Given the description of an element on the screen output the (x, y) to click on. 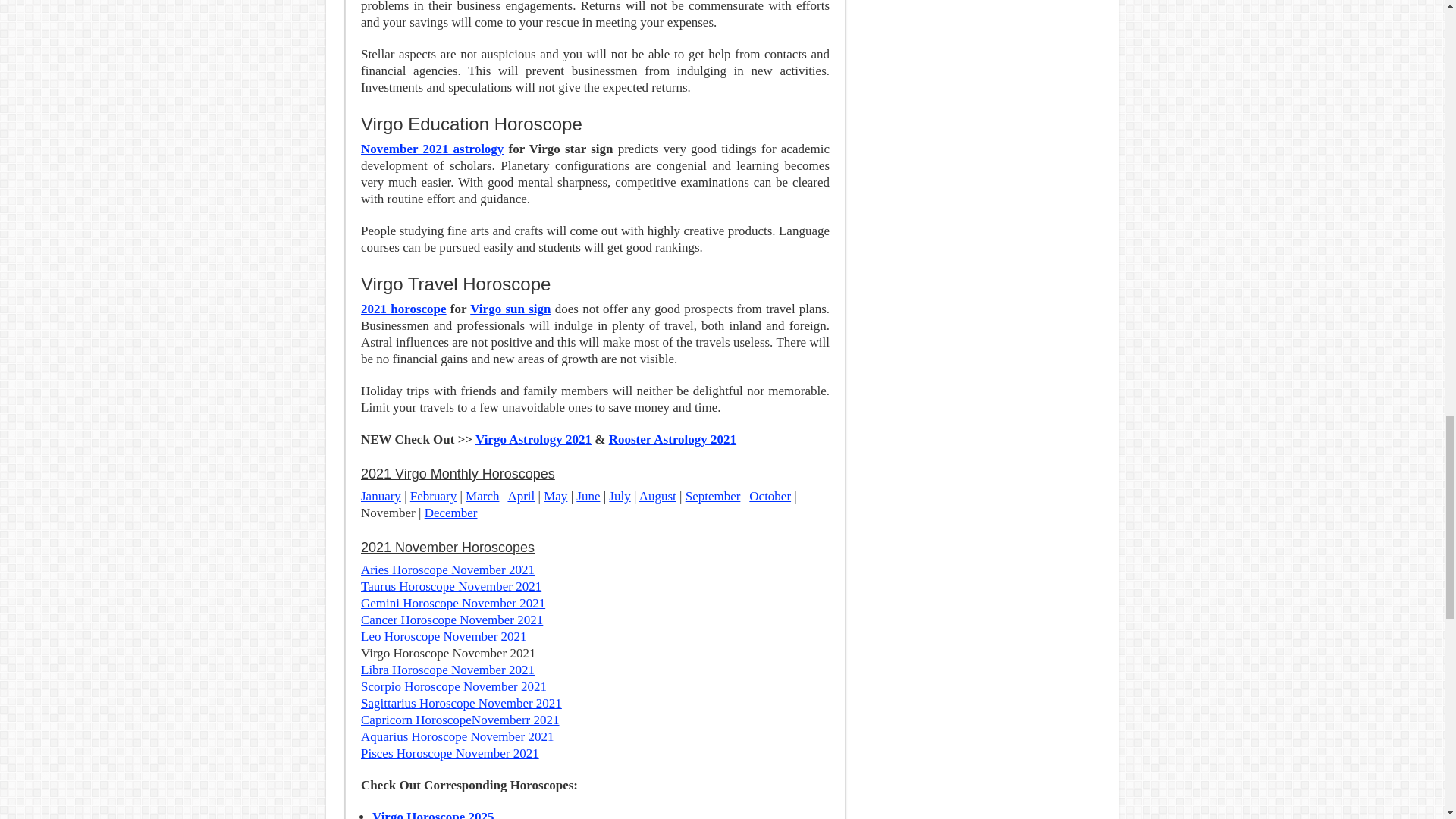
July (619, 495)
November 2021 astrology (432, 148)
September (713, 495)
Taurus Horoscope November 2021 (451, 586)
October (769, 495)
2021 horoscope (403, 309)
December (451, 513)
virgo February 2021 Horoscope (433, 495)
Virgo sun sign (510, 309)
Rooster Astrology 2021 (672, 439)
